Given the description of an element on the screen output the (x, y) to click on. 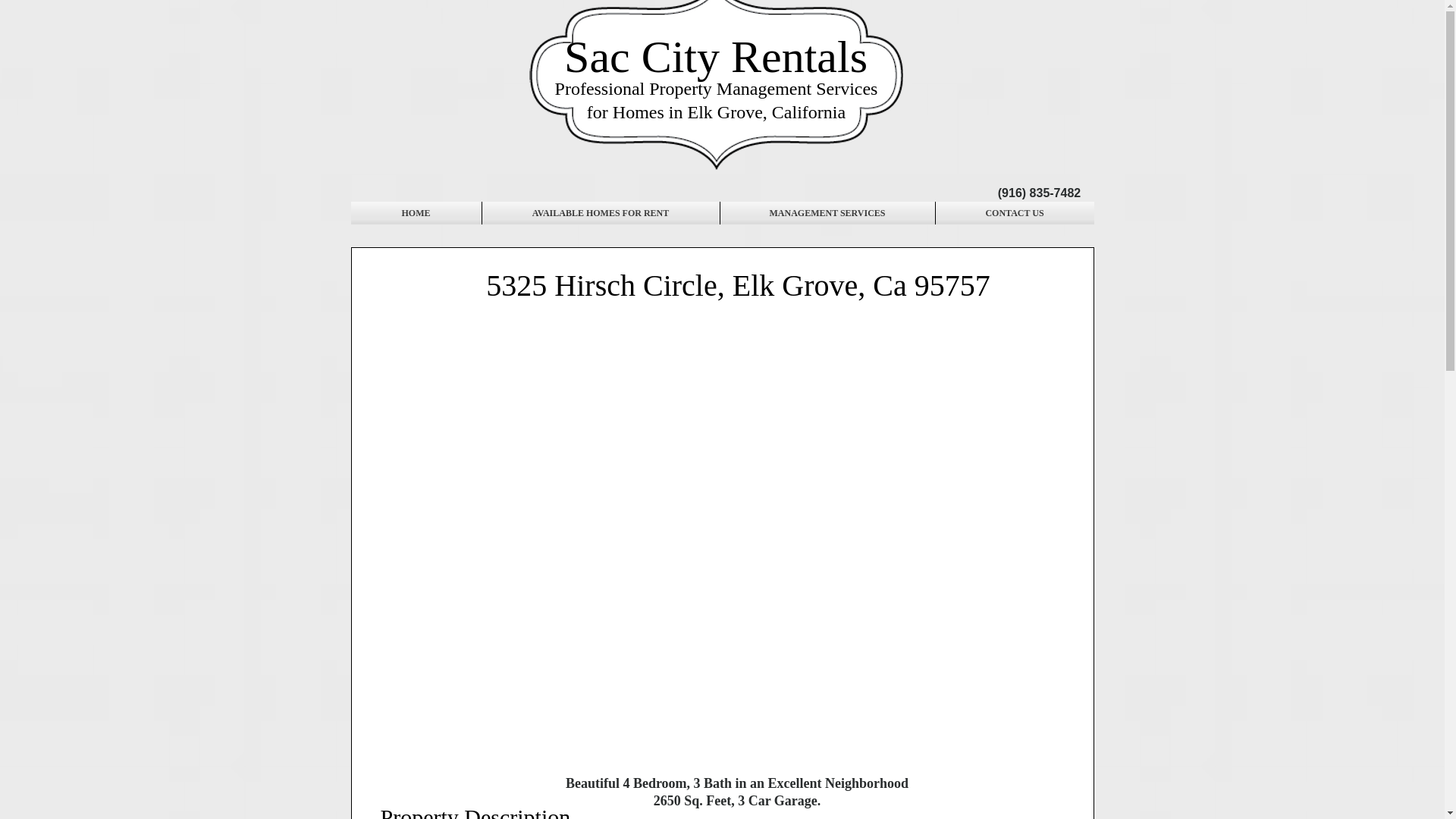
AVAILABLE HOMES FOR RENT (600, 212)
CONTACT US (1015, 212)
MANAGEMENT SERVICES (827, 212)
HOME (415, 212)
